Given the description of an element on the screen output the (x, y) to click on. 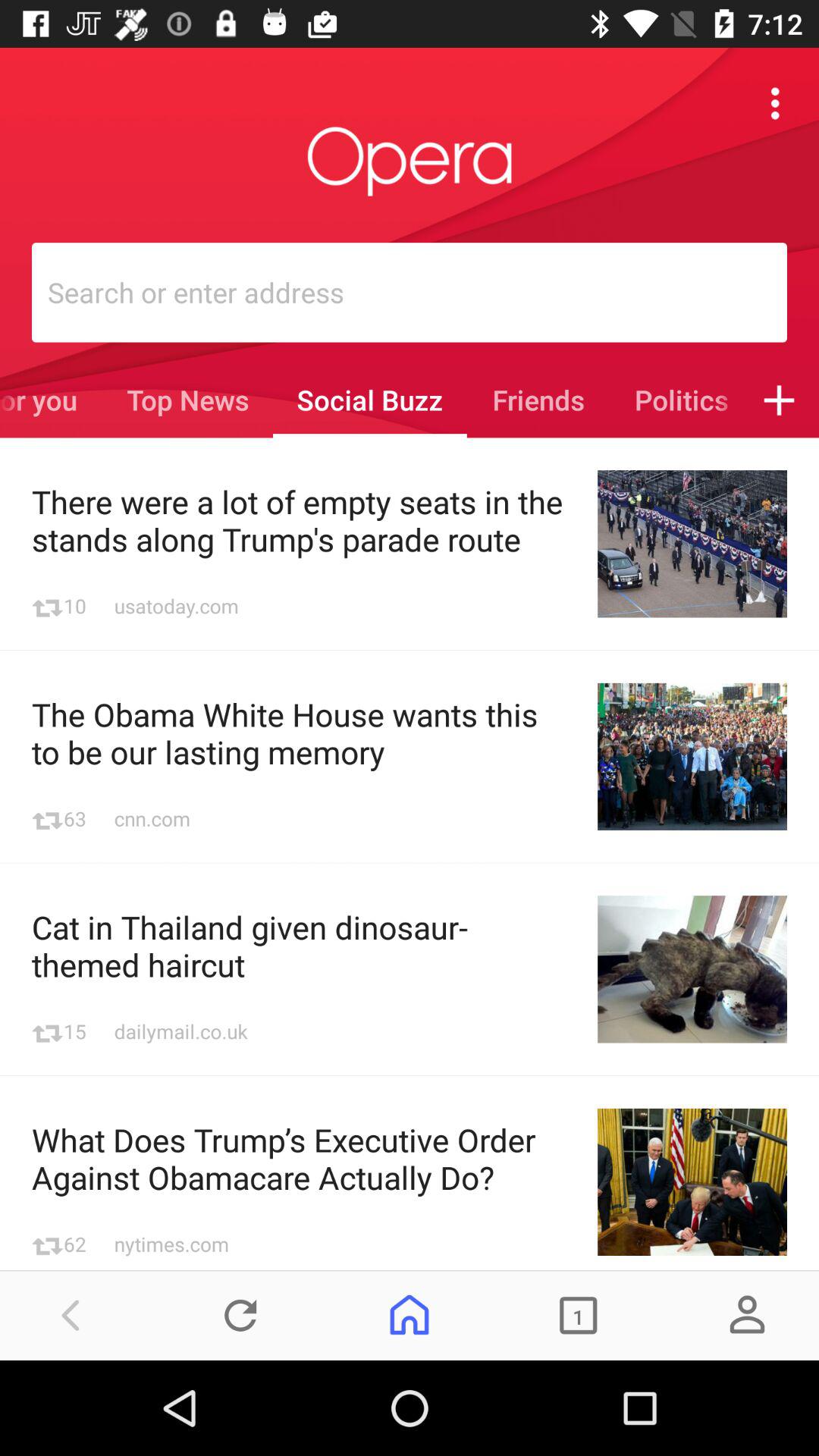
choose the item to the right of politics icon (779, 399)
